Given the description of an element on the screen output the (x, y) to click on. 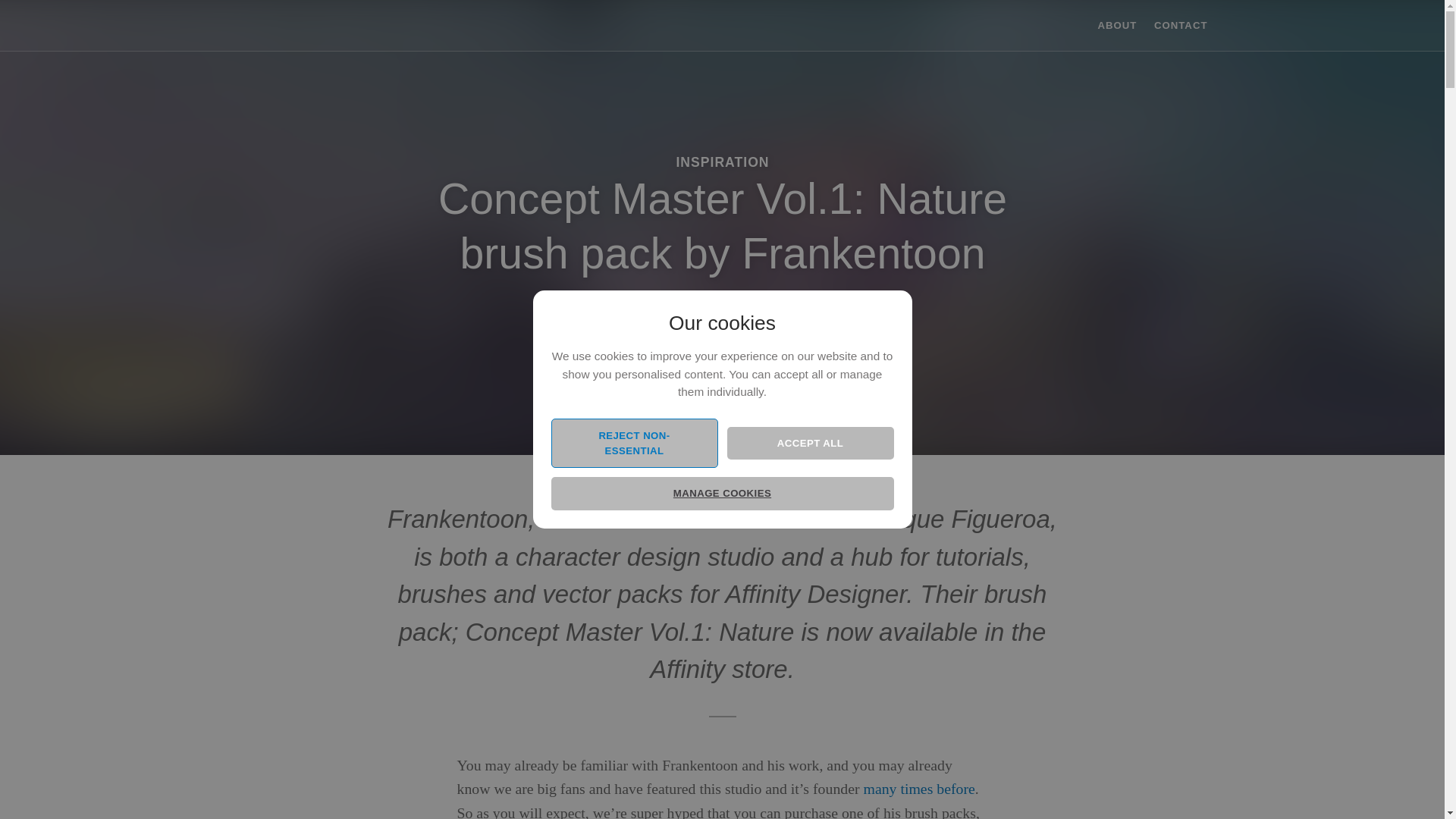
INSPIRATION (721, 161)
ABOUT (1117, 25)
MANAGE COOKIES (721, 493)
many times before (919, 788)
REJECT NON-ESSENTIAL (633, 443)
CONTACT (1180, 25)
Go to the homepage (289, 23)
ACCEPT ALL (809, 443)
